Given the description of an element on the screen output the (x, y) to click on. 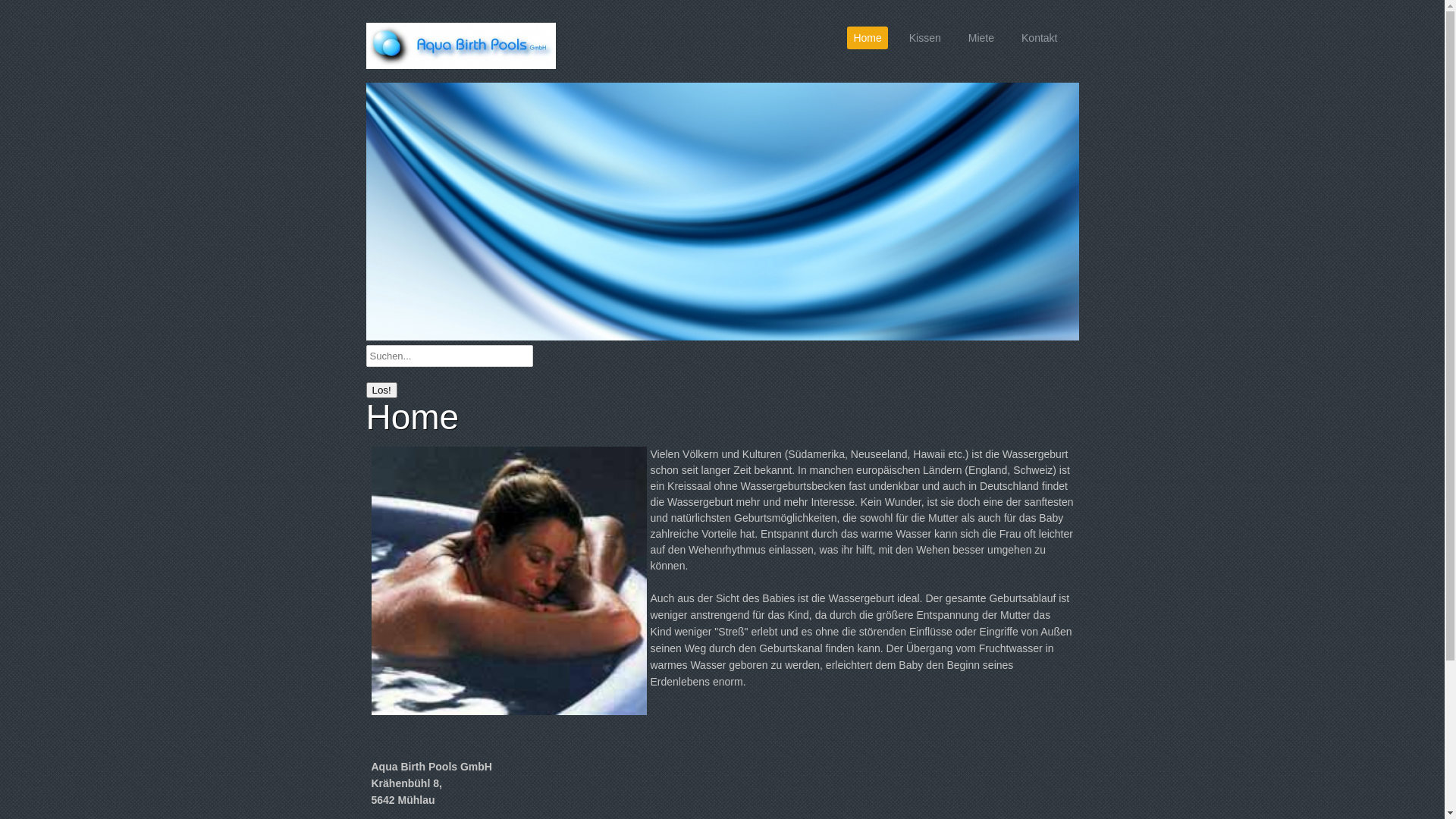
Home Element type: text (867, 37)
Kontakt Element type: text (1039, 37)
Kissen Element type: text (925, 37)
Los! Element type: text (380, 390)
Miete Element type: text (981, 37)
